Given the description of an element on the screen output the (x, y) to click on. 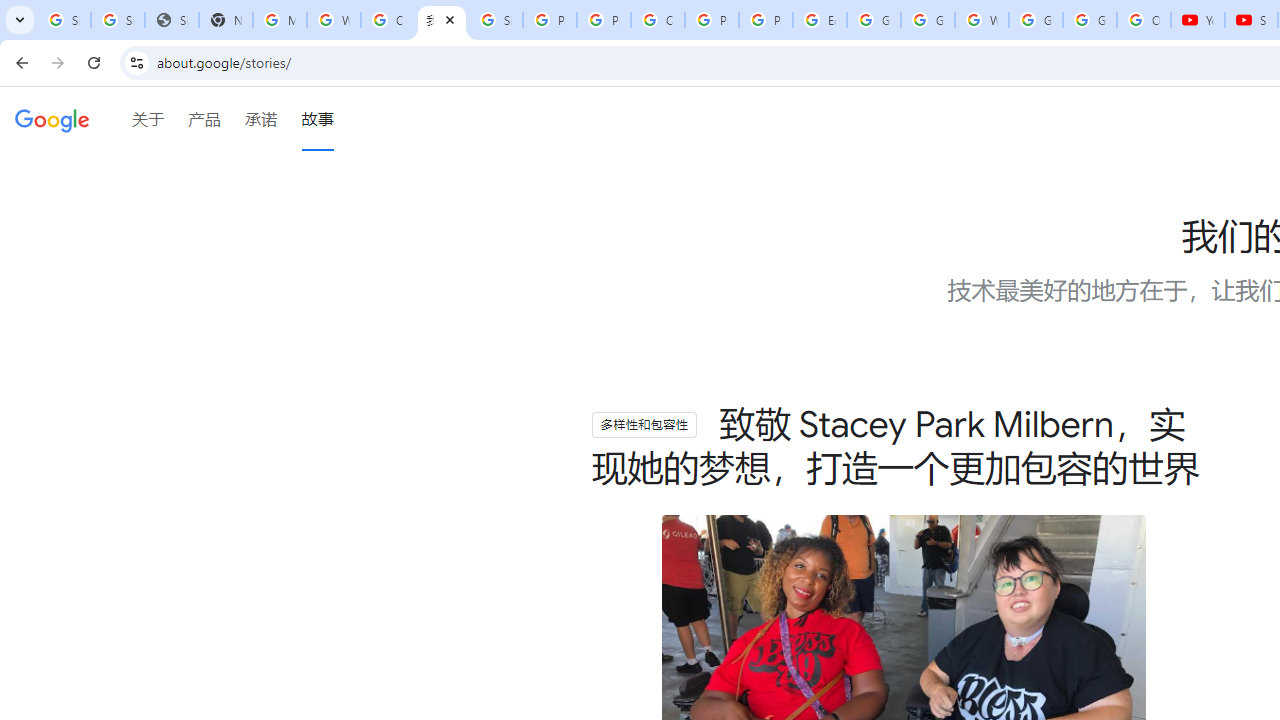
YouTube (1197, 20)
New Tab (225, 20)
Create your Google Account (657, 20)
